Given the description of an element on the screen output the (x, y) to click on. 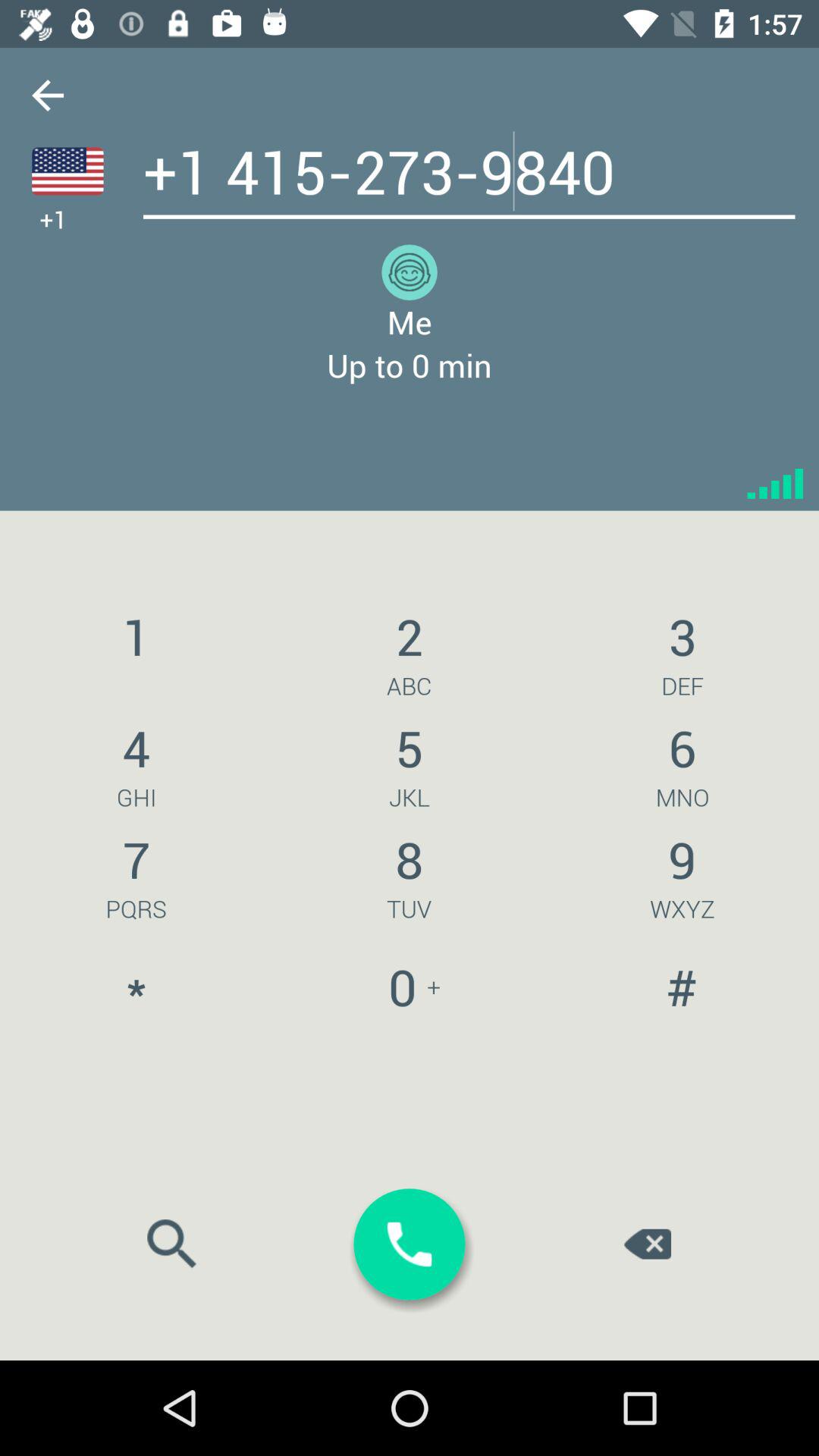
go back (47, 95)
